Given the description of an element on the screen output the (x, y) to click on. 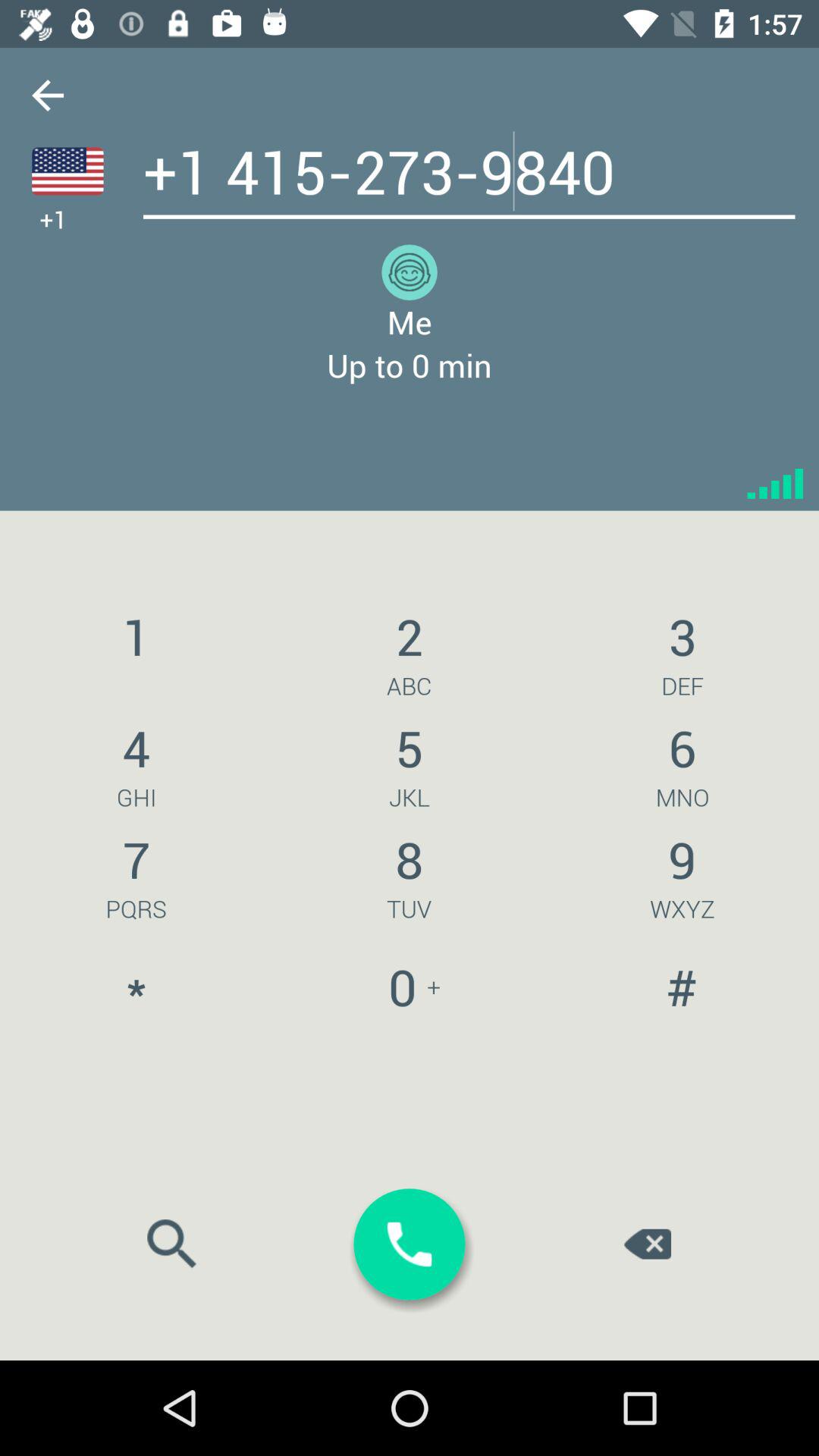
go back (47, 95)
